Given the description of an element on the screen output the (x, y) to click on. 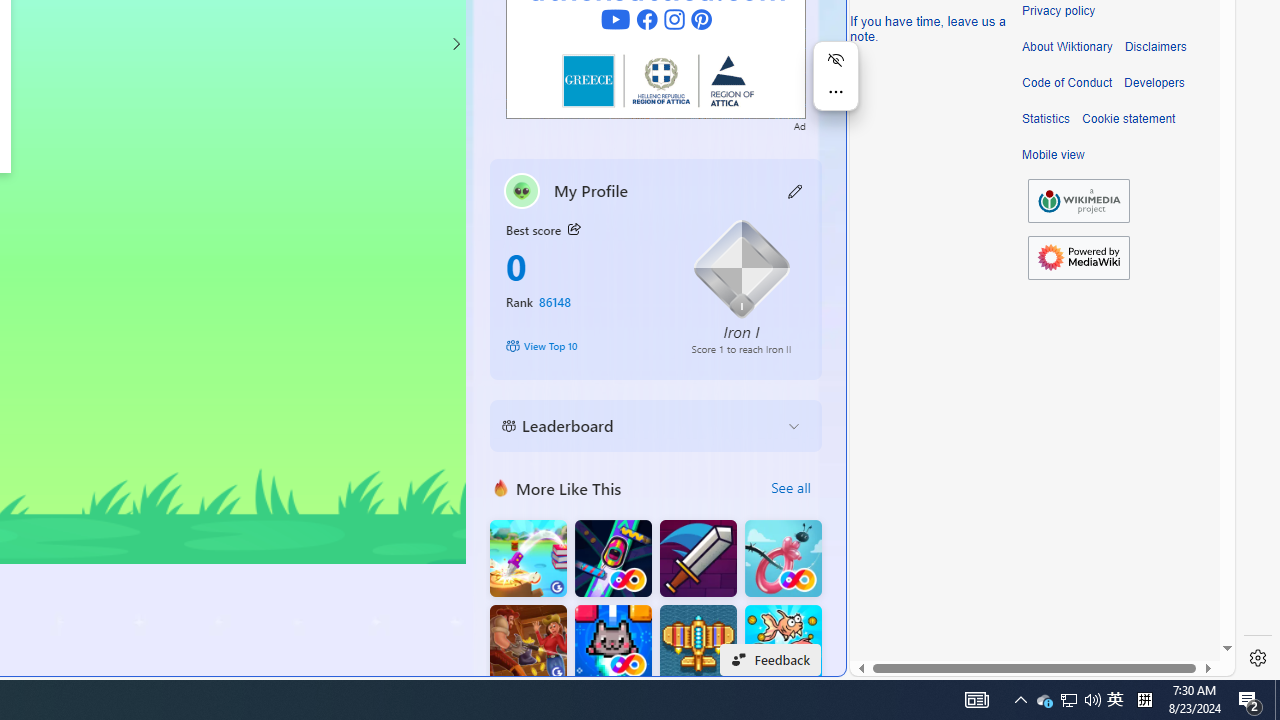
Disclaimers (1154, 47)
Hide menu (835, 59)
More actions (835, 92)
